Given the description of an element on the screen output the (x, y) to click on. 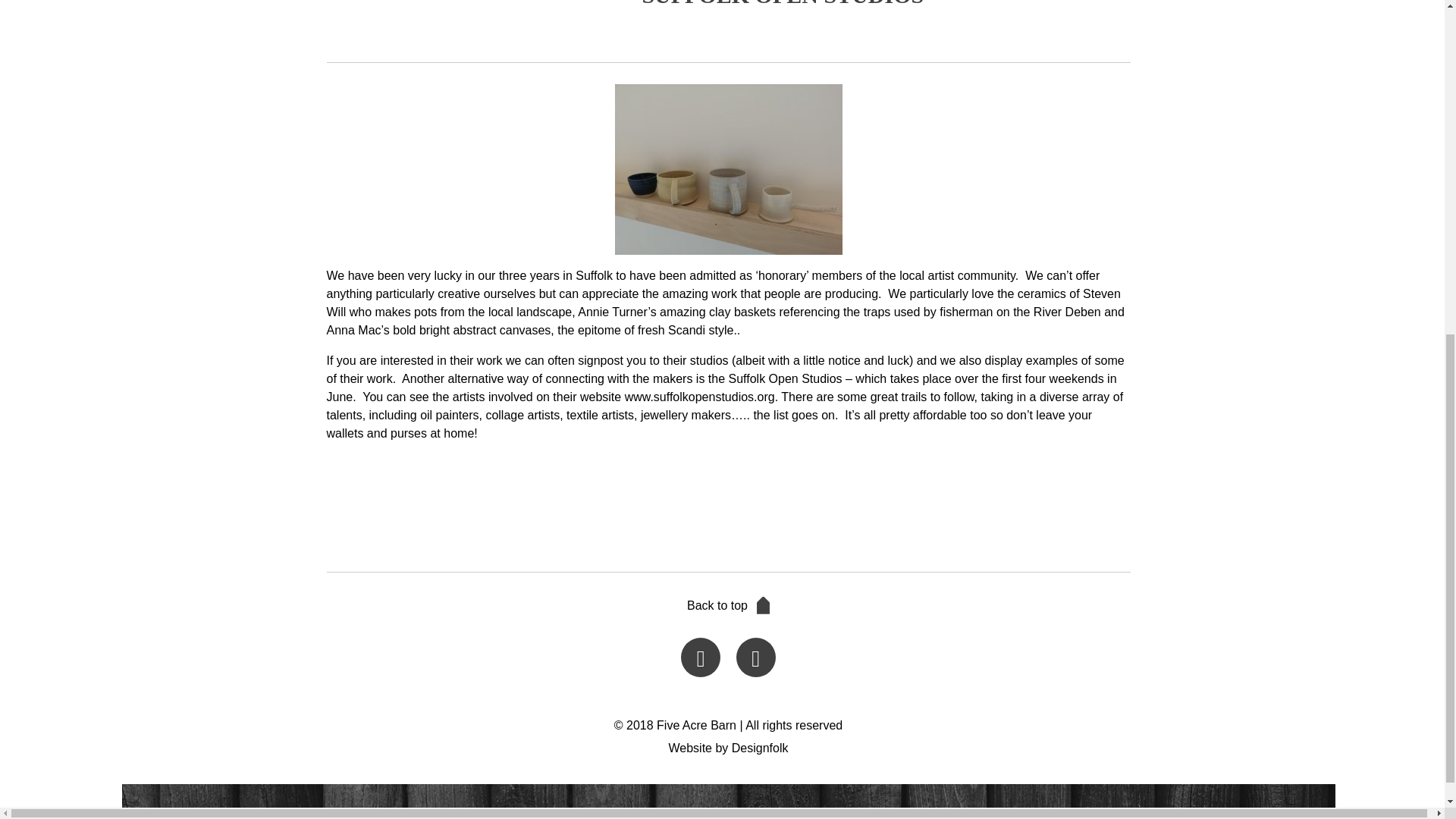
Back to top (728, 605)
Designfolk (760, 748)
